Given the description of an element on the screen output the (x, y) to click on. 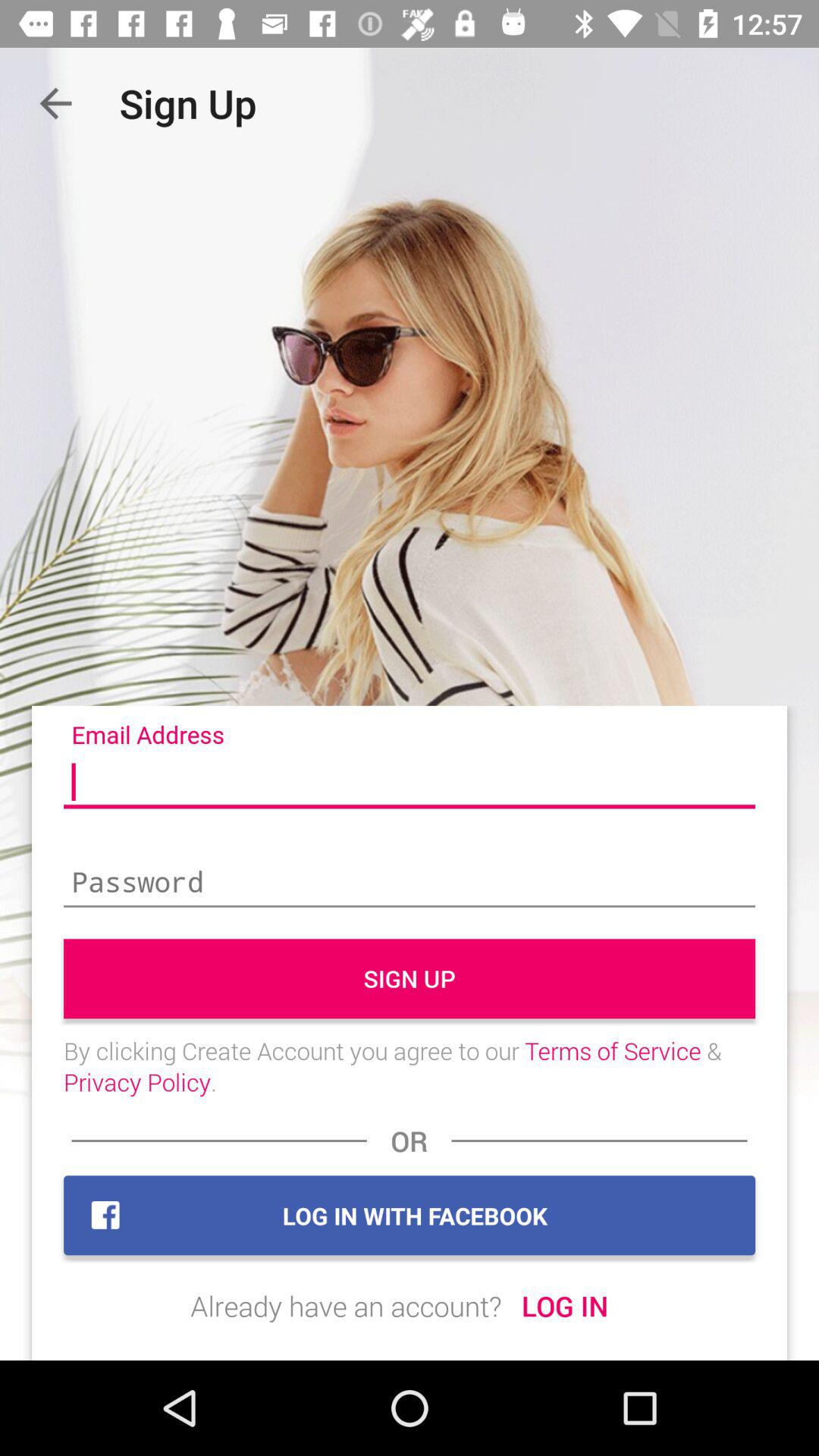
type in password (409, 883)
